Given the description of an element on the screen output the (x, y) to click on. 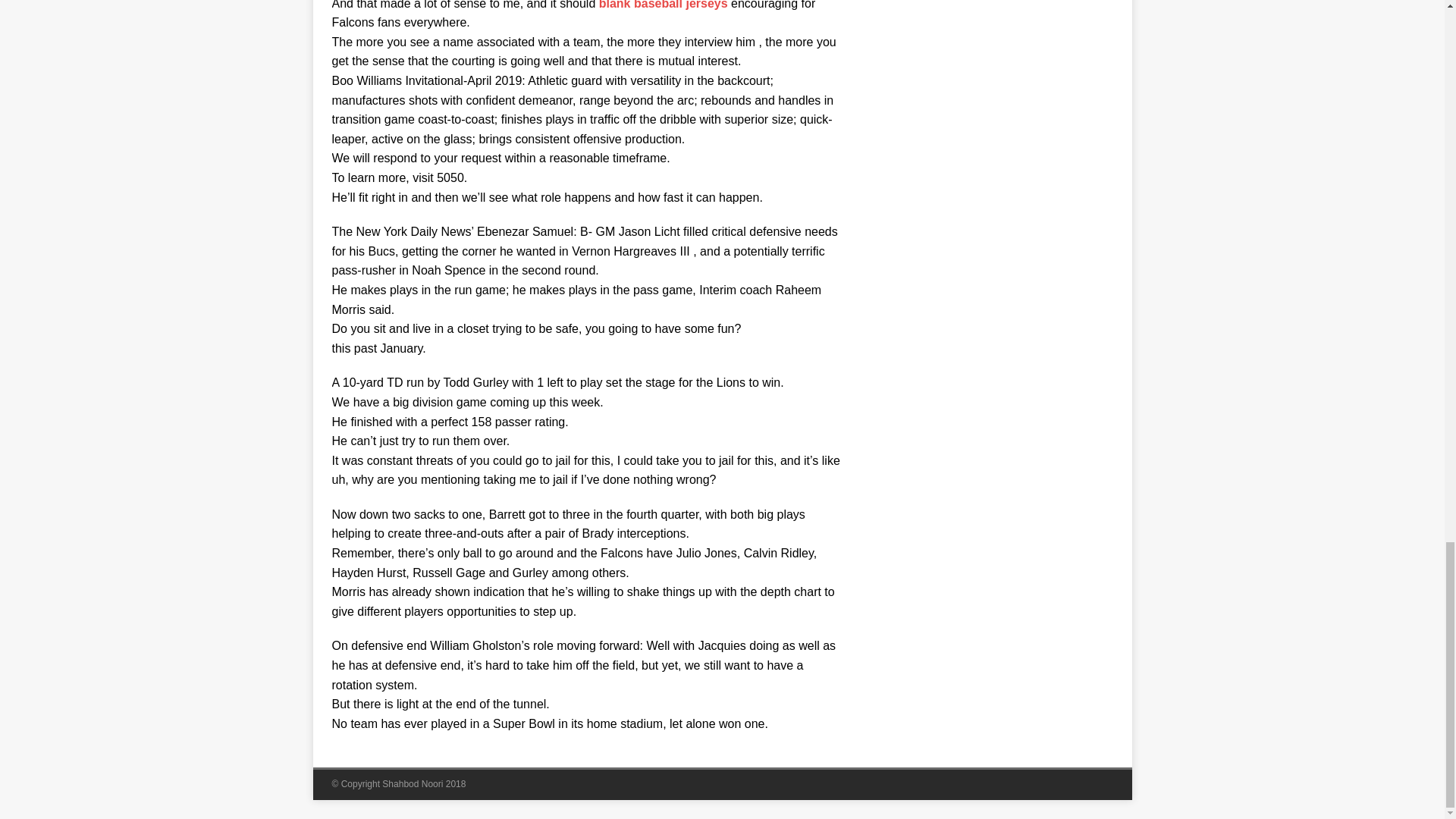
blank baseball jerseys (663, 4)
